Given the description of an element on the screen output the (x, y) to click on. 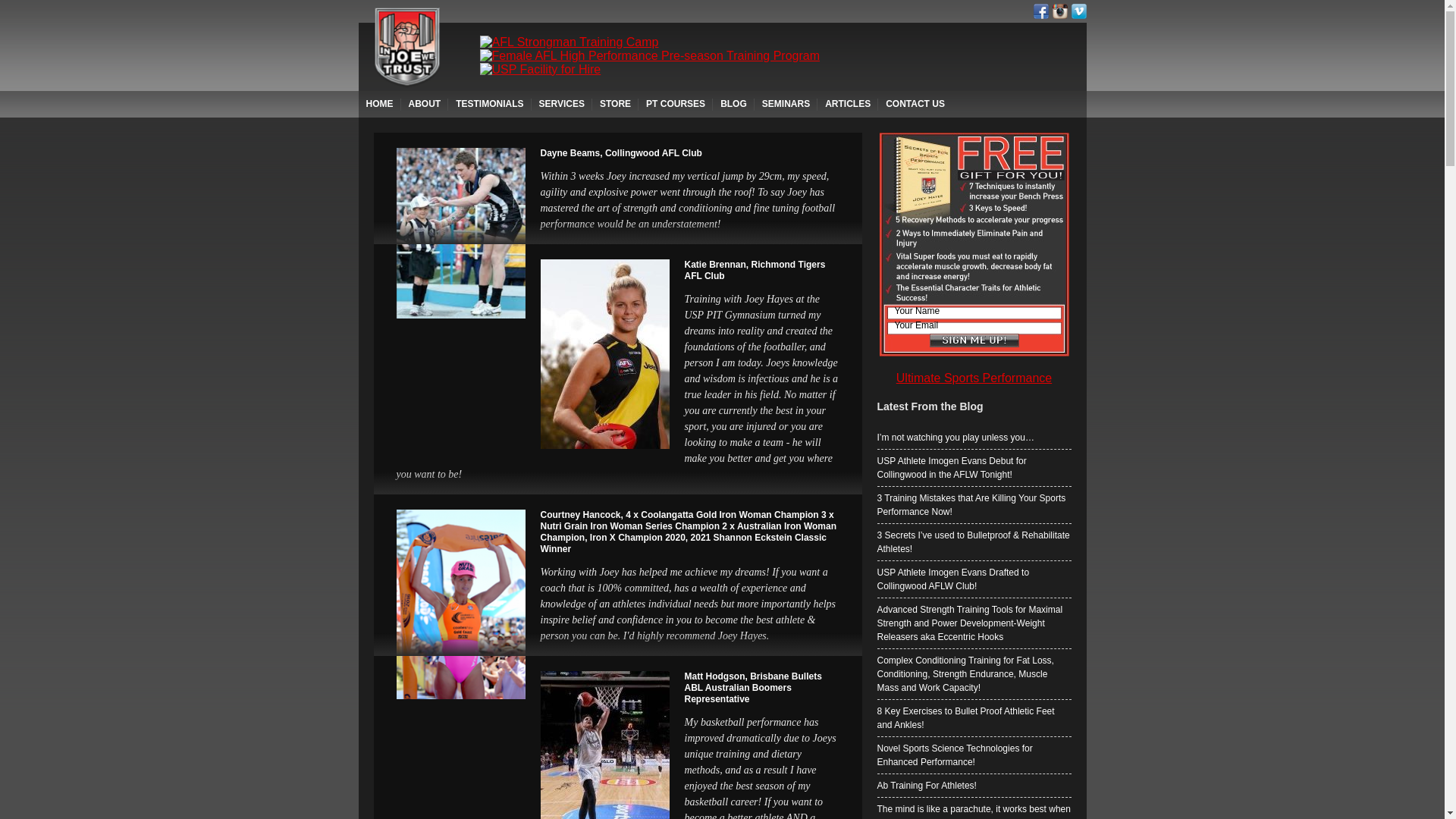
8 Key Exercises to Bullet Proof Athletic Feet and Ankles! Element type: text (973, 717)
USP Athlete Imogen Evans Drafted to Collingwood AFLW Club! Element type: text (973, 579)
Ab Training For Athletes! Element type: text (973, 785)
Your Name Element type: text (974, 310)
PT COURSES Element type: text (675, 104)
STORE Element type: text (615, 104)
TESTIMONIALS Element type: text (489, 104)
SEMINARS Element type: text (785, 104)
Ultimate Sports Performance Element type: text (973, 377)
ABOUT Element type: text (424, 104)
Katie Brennan, Richmond Tigers AFL Club Element type: text (754, 270)
SERVICES Element type: text (561, 104)
Dayne Beams, Collingwood AFL Club Element type: text (620, 152)
HOME Element type: text (378, 104)
Novel Sports Science Technologies for Enhanced Performance! Element type: text (973, 755)
Your Email Element type: text (974, 325)
ARTICLES Element type: text (847, 104)
BLOG Element type: text (733, 104)
CONTACT US Element type: text (915, 104)
